Given the description of an element on the screen output the (x, y) to click on. 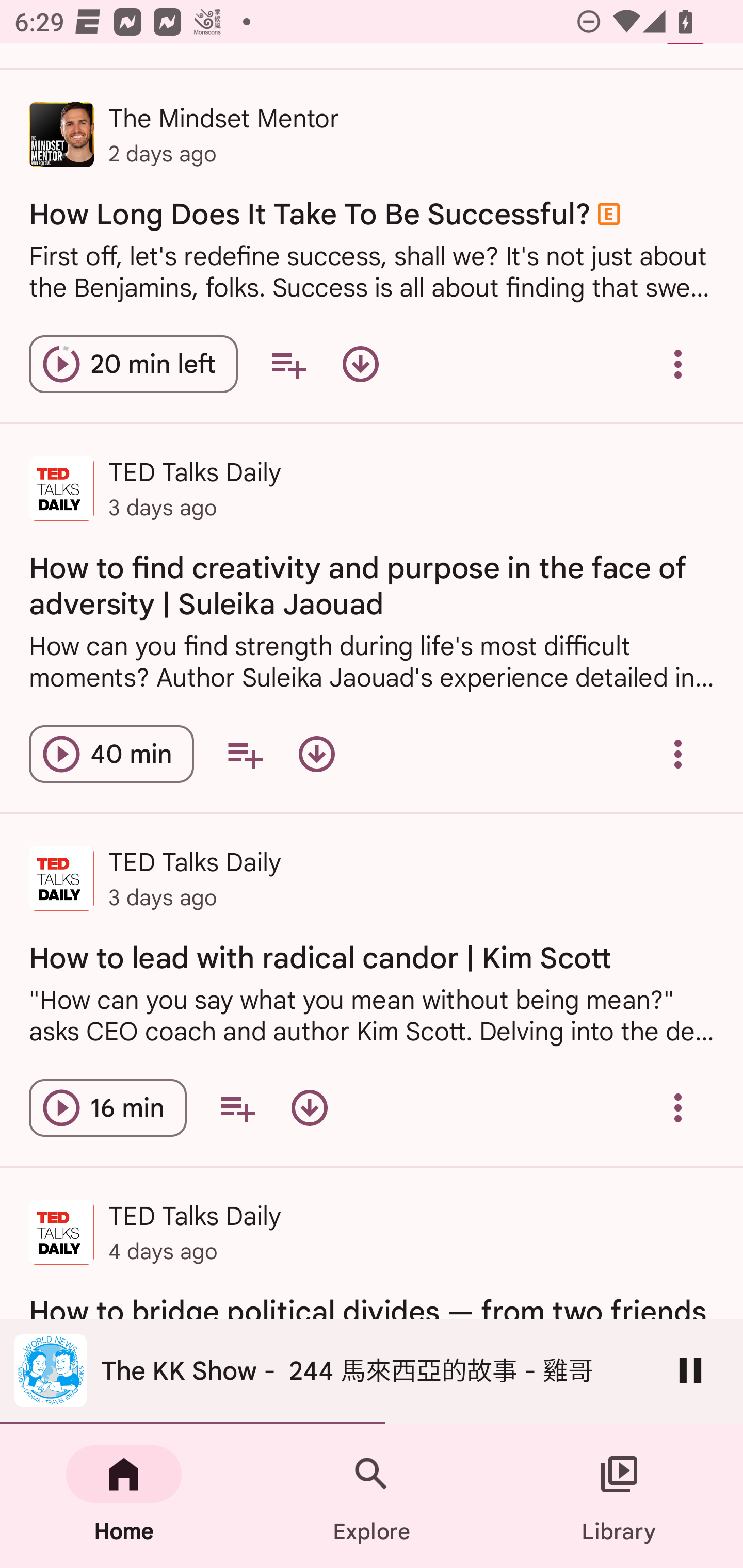
Add to your queue (288, 364)
Download episode (360, 364)
Overflow menu (677, 364)
Add to your queue (244, 754)
Download episode (316, 754)
Overflow menu (677, 754)
Add to your queue (237, 1107)
Download episode (309, 1107)
Overflow menu (677, 1107)
Pause (690, 1370)
Explore (371, 1495)
Library (619, 1495)
